Given the description of an element on the screen output the (x, y) to click on. 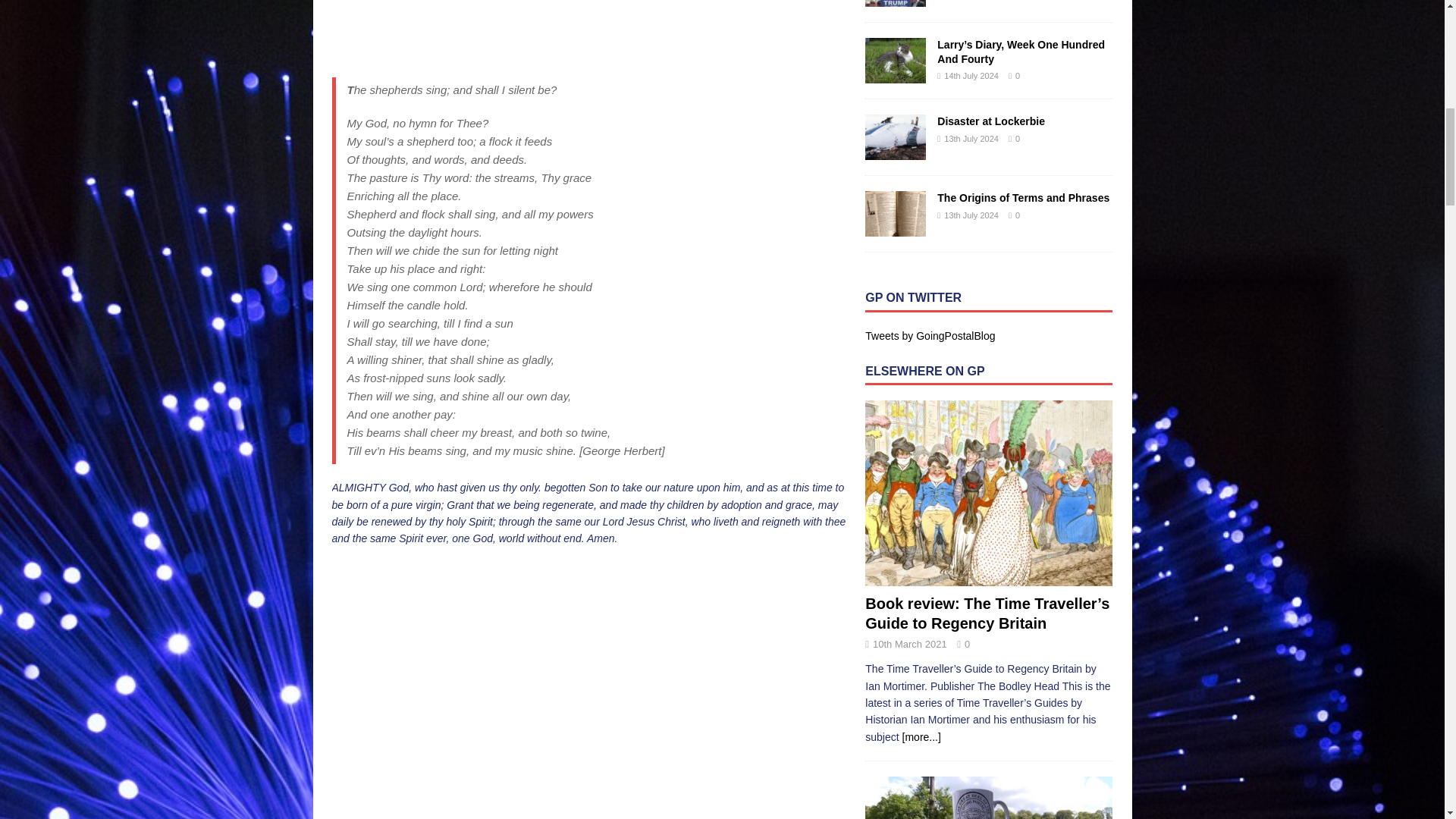
st pauls cathedral ringing bells (588, 28)
